Given the description of an element on the screen output the (x, y) to click on. 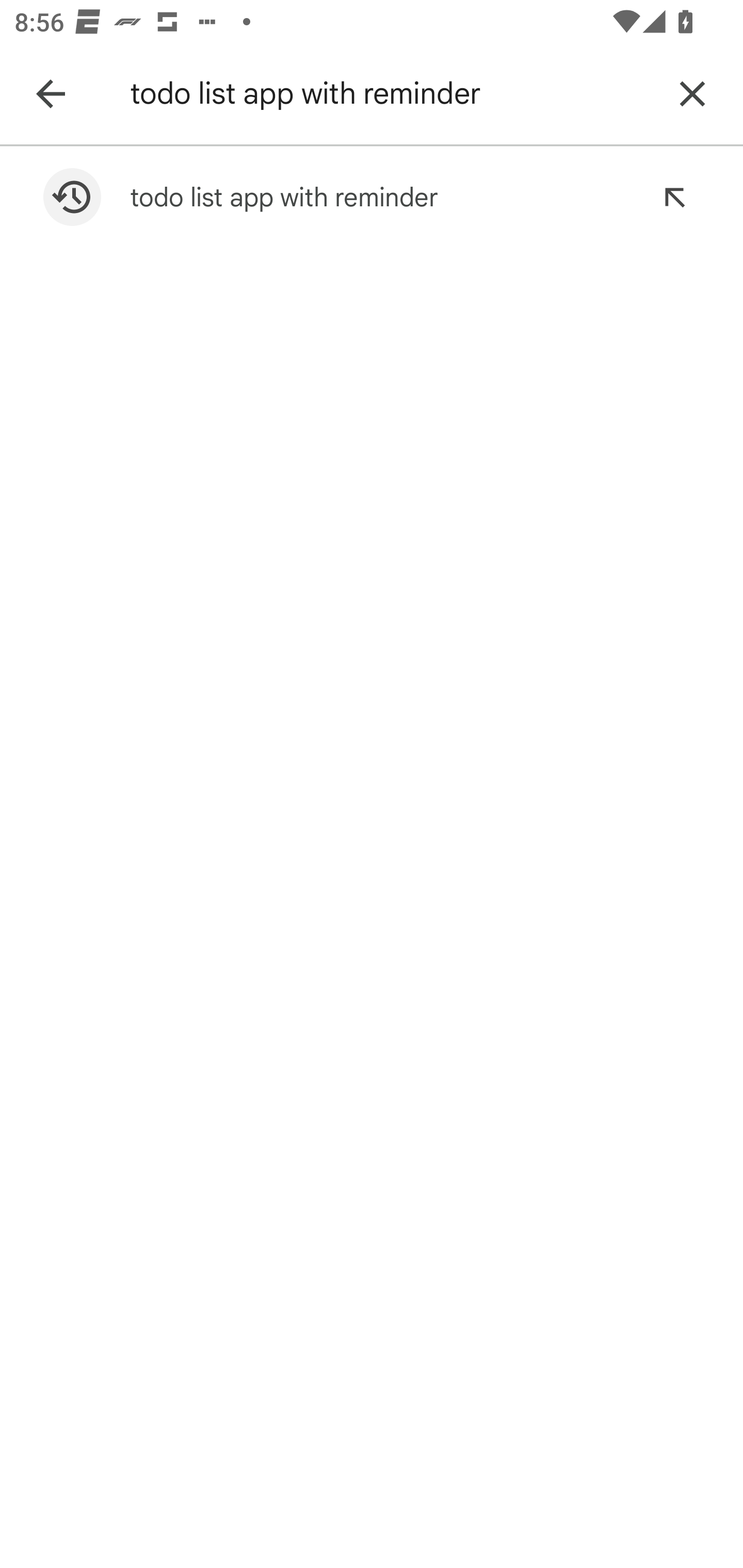
Navigate up (50, 93)
todo list app with reminder (389, 93)
Clear (692, 93)
Refine search to "todo list app with reminder" (673, 196)
